Given the description of an element on the screen output the (x, y) to click on. 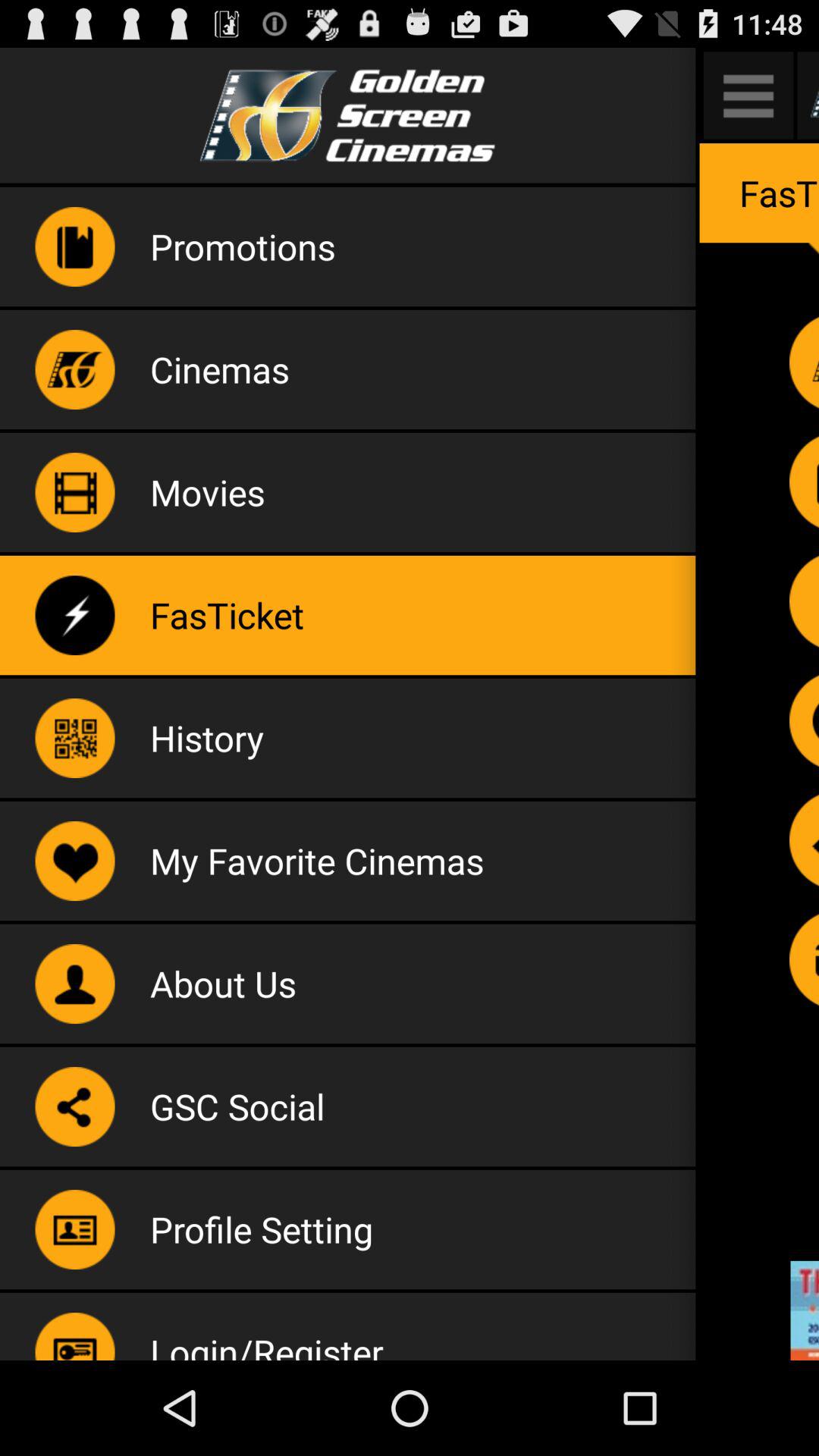
go to histiry (804, 720)
